Given the description of an element on the screen output the (x, y) to click on. 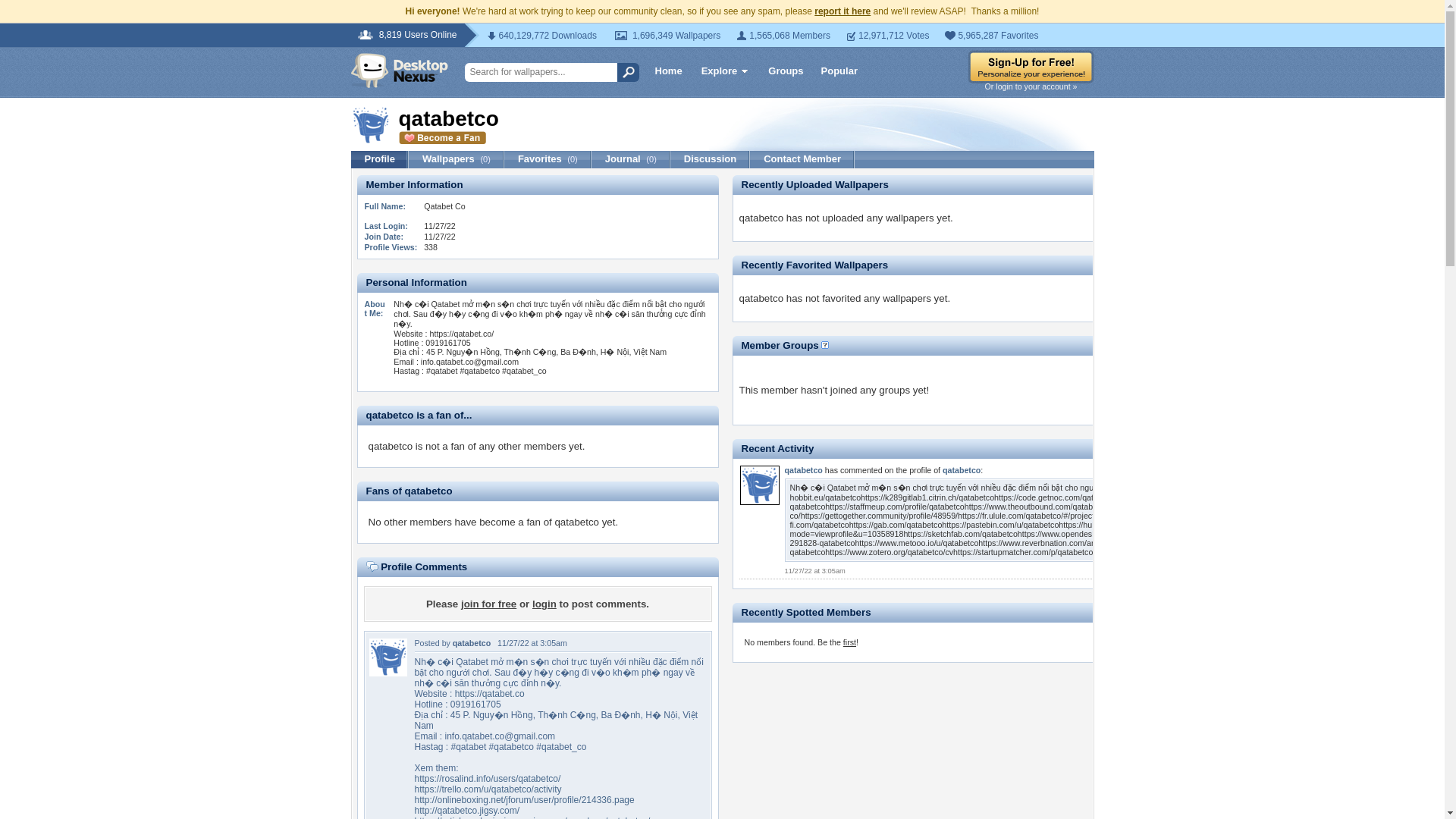
qatabetco (387, 672)
login (544, 603)
Desktop Nexus Wallpapers (398, 70)
Profile (378, 159)
Desktop Nexus Wallpapers (398, 70)
join for free (488, 603)
Contact Member (801, 159)
qatabetco (471, 642)
Groups (785, 70)
Search for wallpapers... (546, 72)
Explore (725, 72)
qatabetco (471, 642)
Popular (838, 70)
qatabetco (758, 501)
Discussion (709, 159)
